Given the description of an element on the screen output the (x, y) to click on. 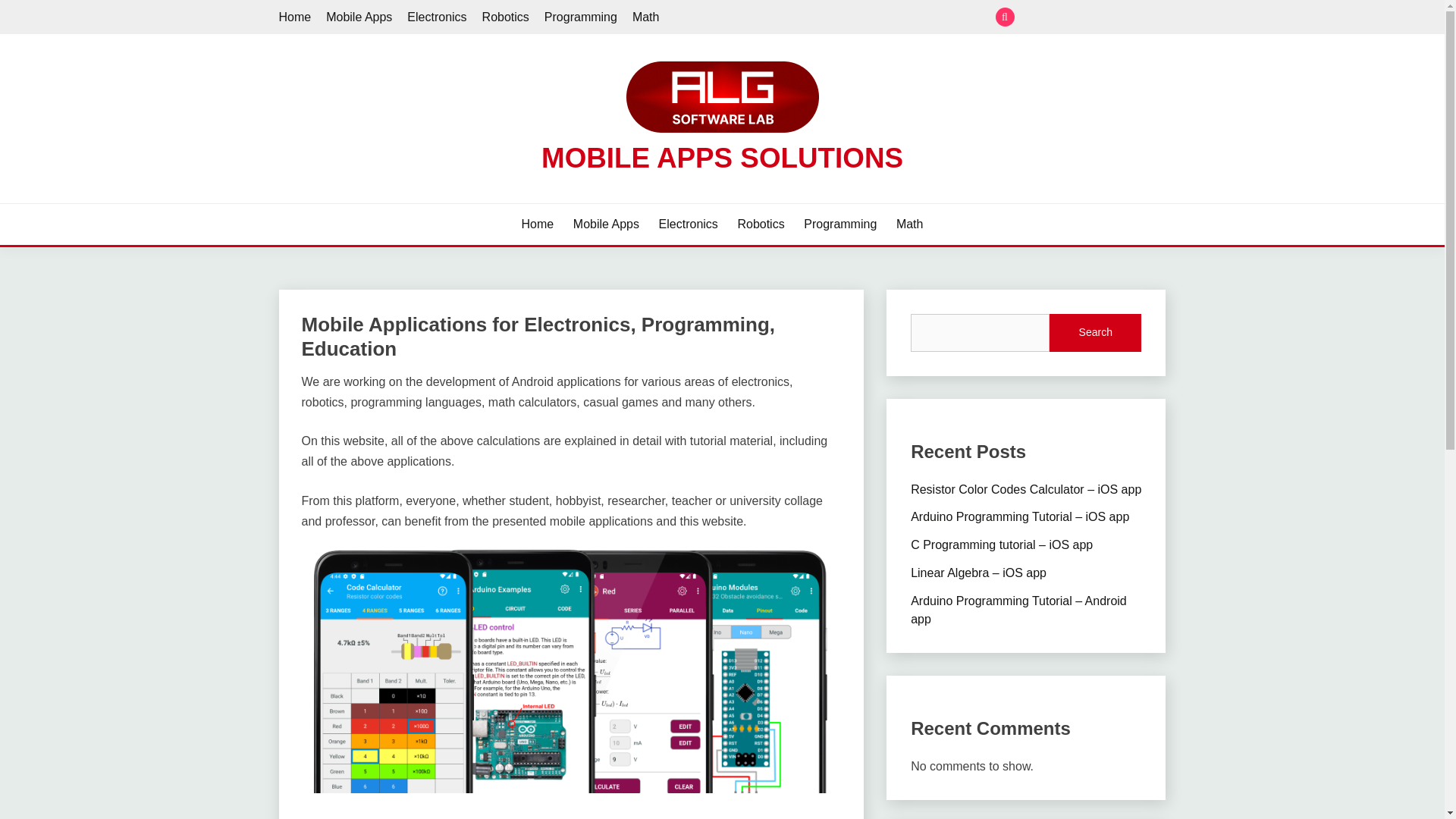
Math (909, 224)
MOBILE APPS SOLUTIONS (721, 157)
Math (1156, 16)
Programming (1131, 16)
Robotics (760, 224)
Home (1031, 16)
Electronics (436, 16)
Robotics (1105, 16)
Electronics (688, 224)
Home (295, 16)
